Given the description of an element on the screen output the (x, y) to click on. 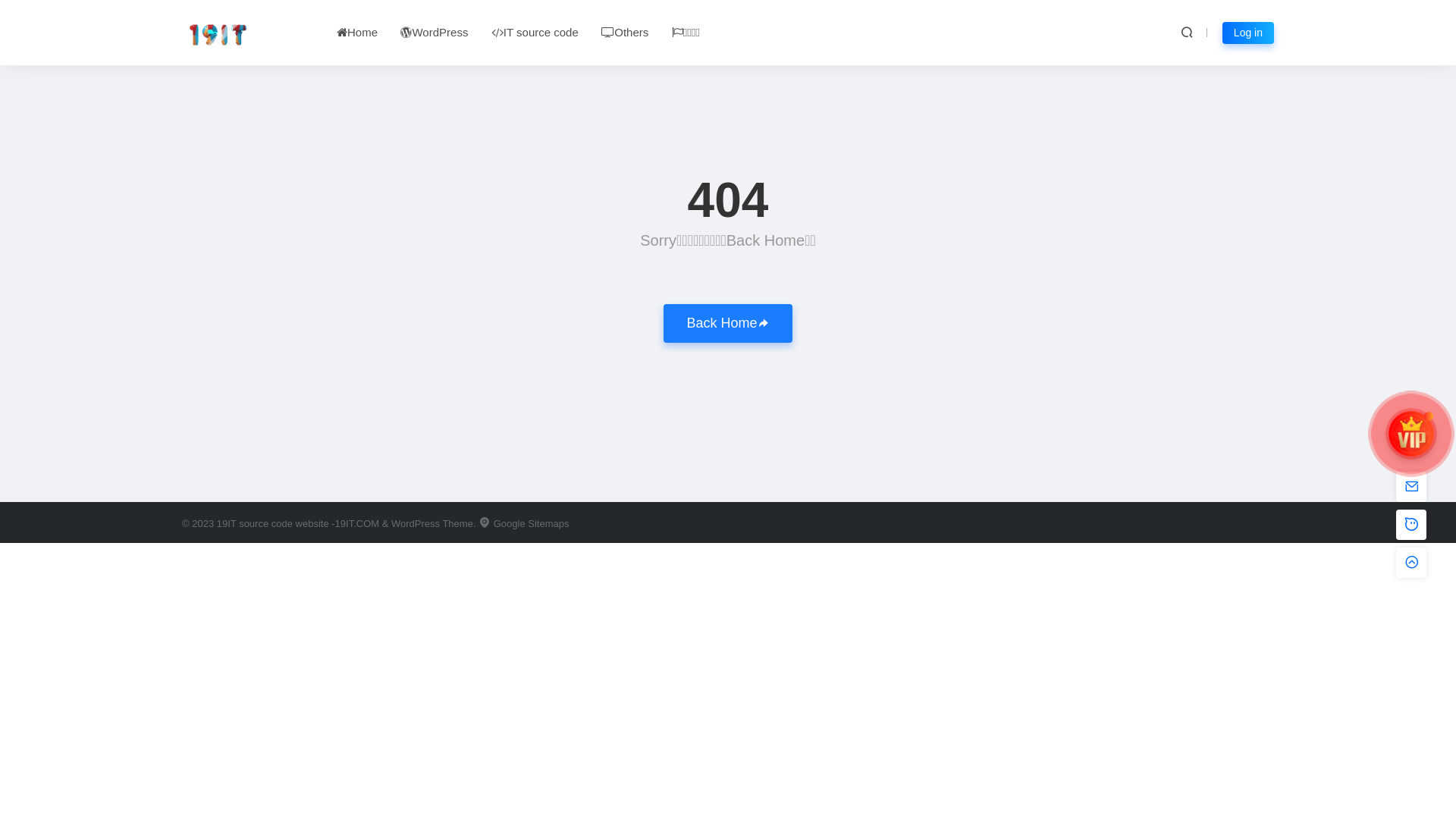
19IT Element type: text (227, 523)
Back Home Element type: text (727, 323)
Others Element type: text (624, 31)
IT source code Element type: text (534, 31)
WordPress Element type: text (433, 31)
Google Sitemaps Element type: text (523, 523)
Home Element type: text (356, 31)
Log in Element type: text (1248, 32)
